Given the description of an element on the screen output the (x, y) to click on. 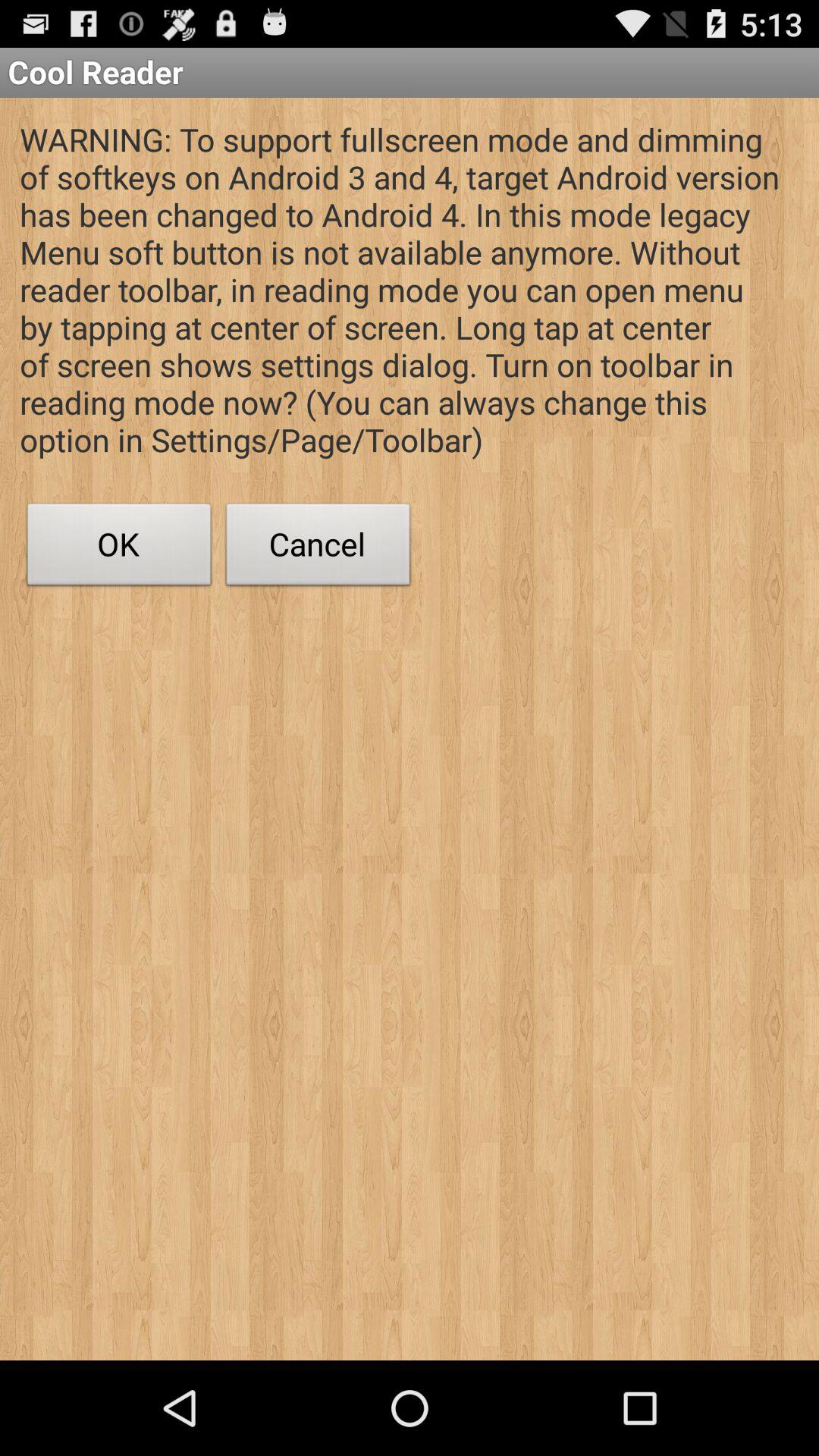
launch button next to ok icon (318, 548)
